Given the description of an element on the screen output the (x, y) to click on. 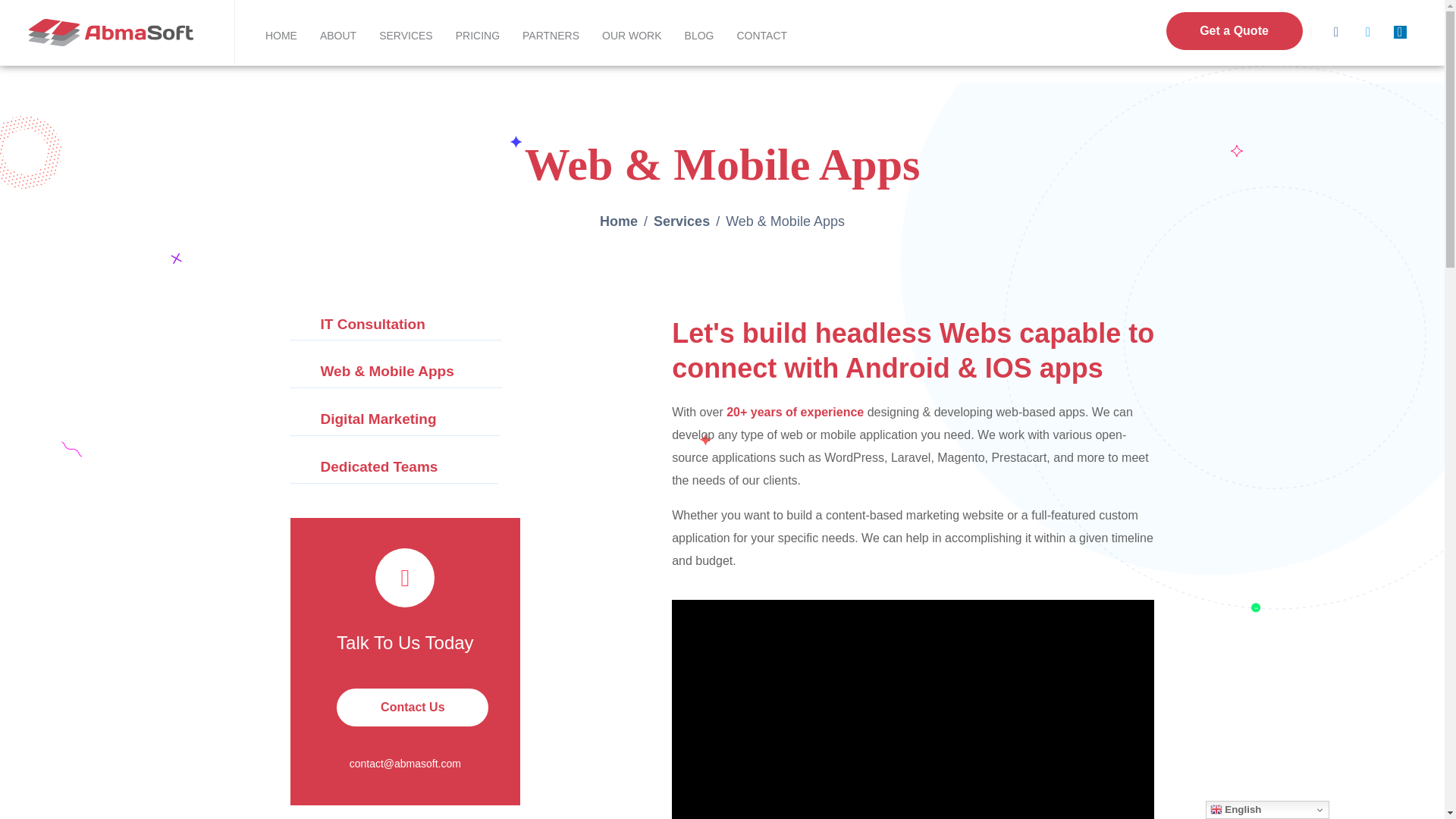
Services (681, 221)
Dedicated Teams (393, 467)
Home (618, 221)
Get a Quote (1234, 30)
Digital Marketing (394, 419)
IT Consultation (394, 323)
Contact Us (411, 707)
